Given the description of an element on the screen output the (x, y) to click on. 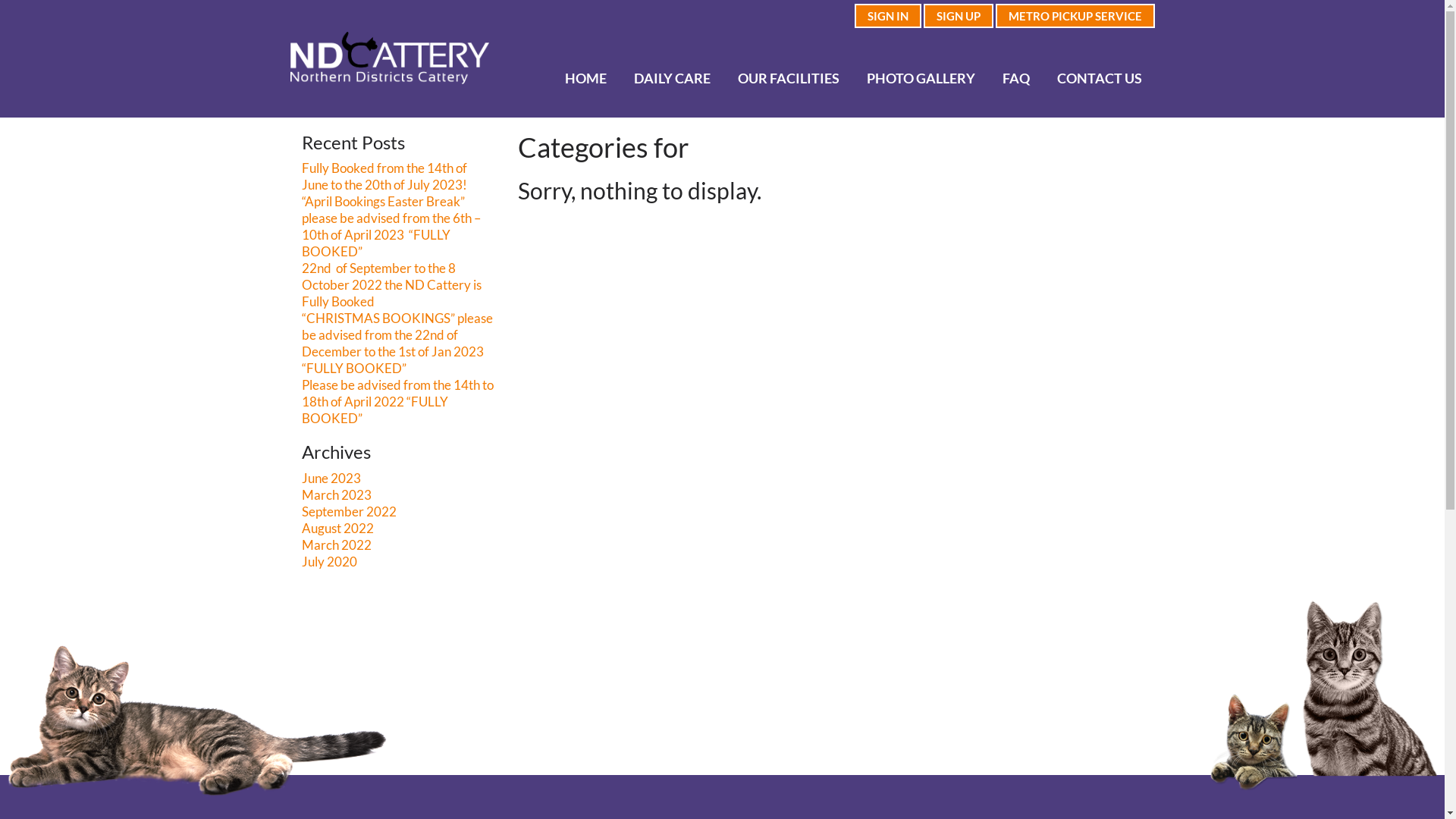
August 2022 Element type: text (337, 528)
Fully Booked from the 14th of June to the 20th of July 2023! Element type: text (384, 176)
March 2022 Element type: text (336, 544)
SIGN IN Element type: text (886, 15)
CONTACT US Element type: text (1099, 77)
June 2023 Element type: text (330, 478)
March 2023 Element type: text (336, 494)
HOME Element type: text (585, 77)
OUR FACILITIES Element type: text (787, 77)
PHOTO GALLERY Element type: text (920, 77)
September 2022 Element type: text (348, 511)
SIGN UP Element type: text (958, 15)
FAQ Element type: text (1016, 77)
METRO PICKUP SERVICE Element type: text (1074, 15)
DAILY CARE Element type: text (672, 77)
July 2020 Element type: text (329, 561)
